Given the description of an element on the screen output the (x, y) to click on. 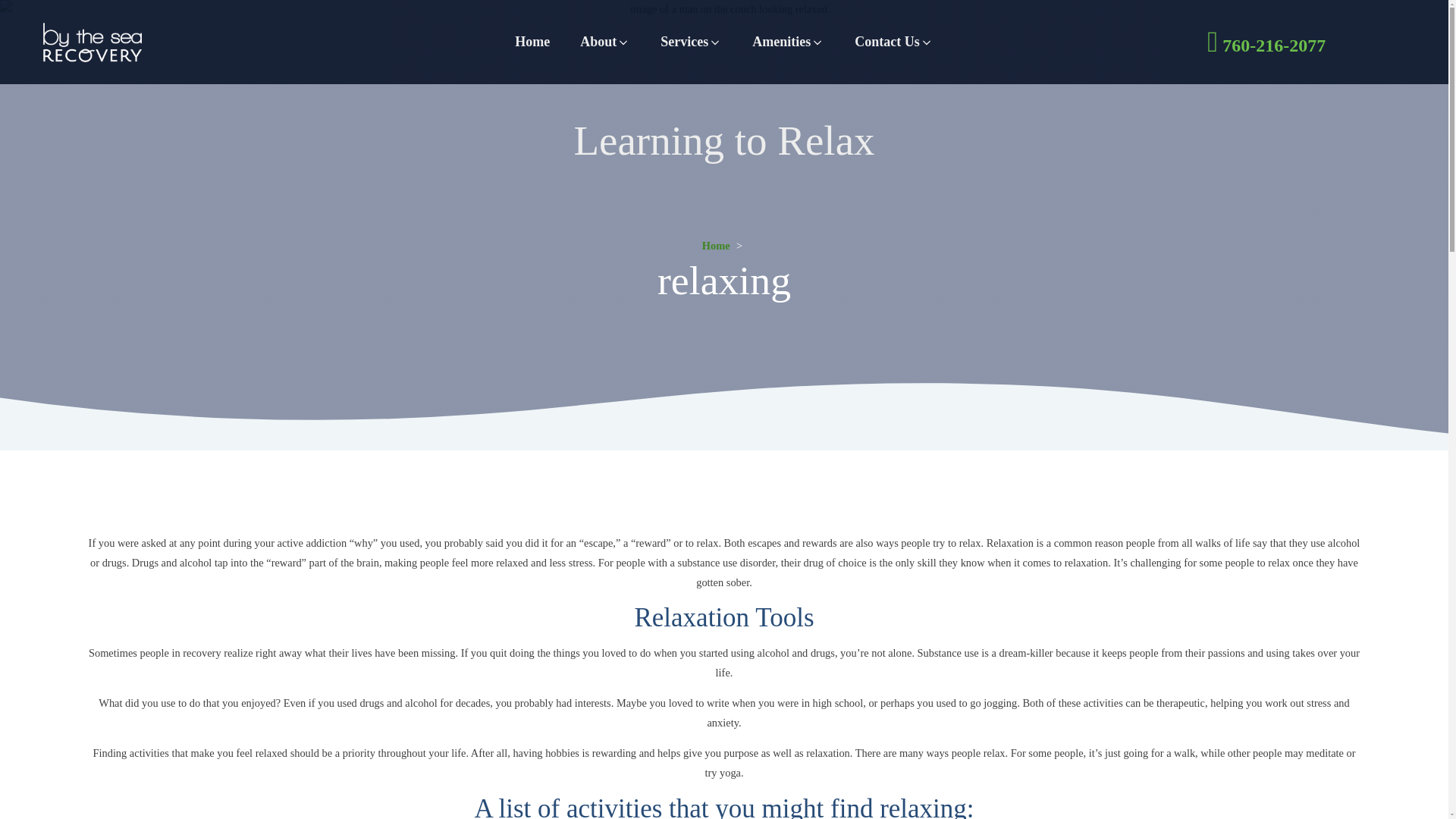
About (604, 41)
760-216-2077 (1268, 41)
Home (715, 245)
Home (531, 41)
Services (690, 41)
Amenities (788, 41)
Contact Us (894, 41)
